Given the description of an element on the screen output the (x, y) to click on. 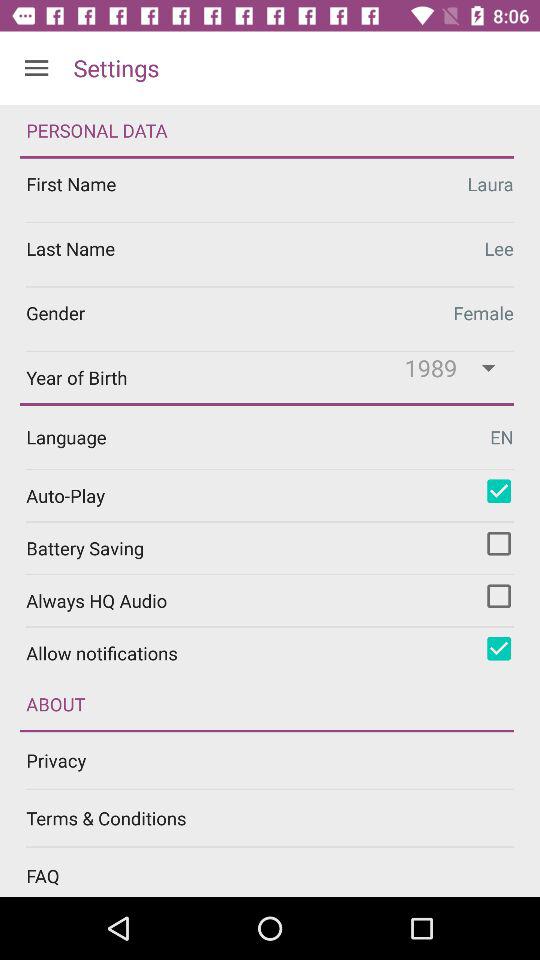
launch icon next to settings (36, 68)
